Given the description of an element on the screen output the (x, y) to click on. 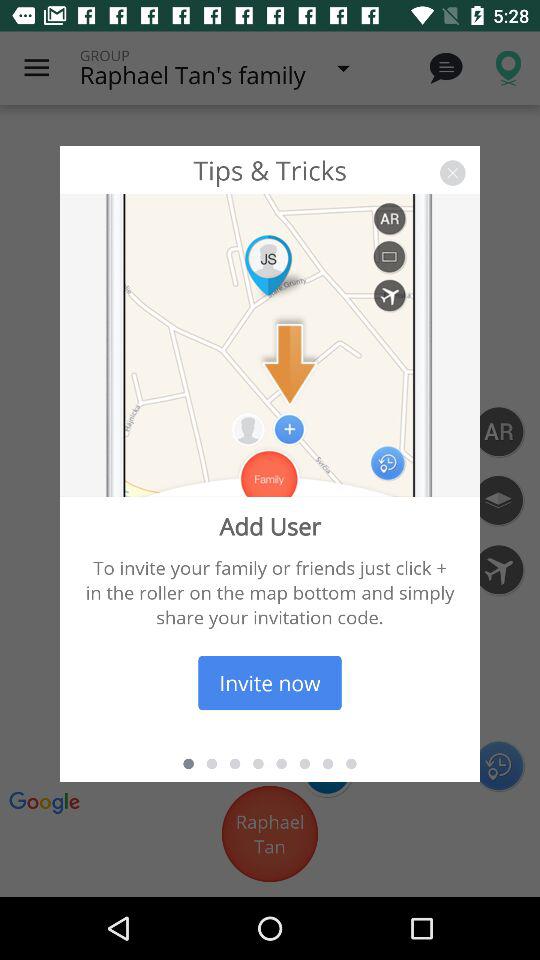
click the icon above add user icon (452, 172)
